Given the description of an element on the screen output the (x, y) to click on. 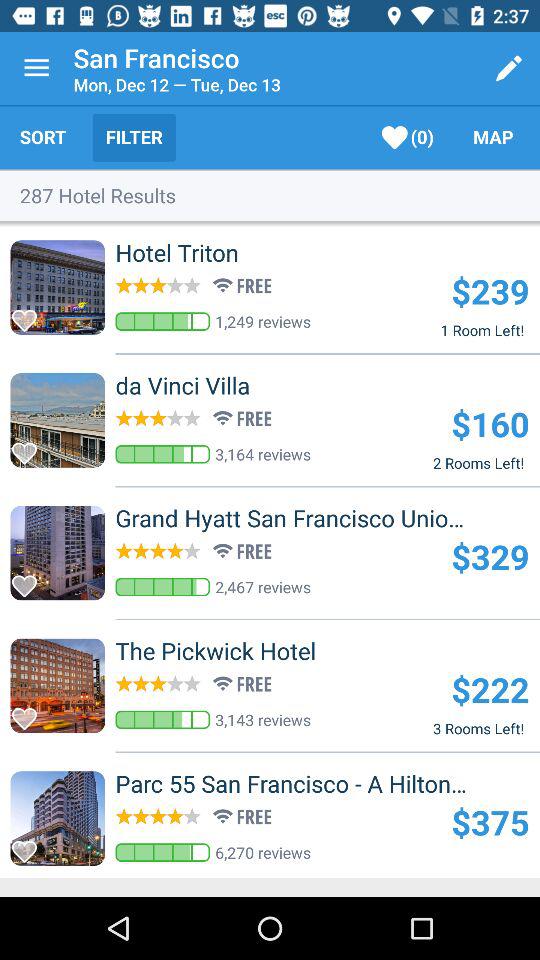
flip until 2,467 reviews item (263, 586)
